Given the description of an element on the screen output the (x, y) to click on. 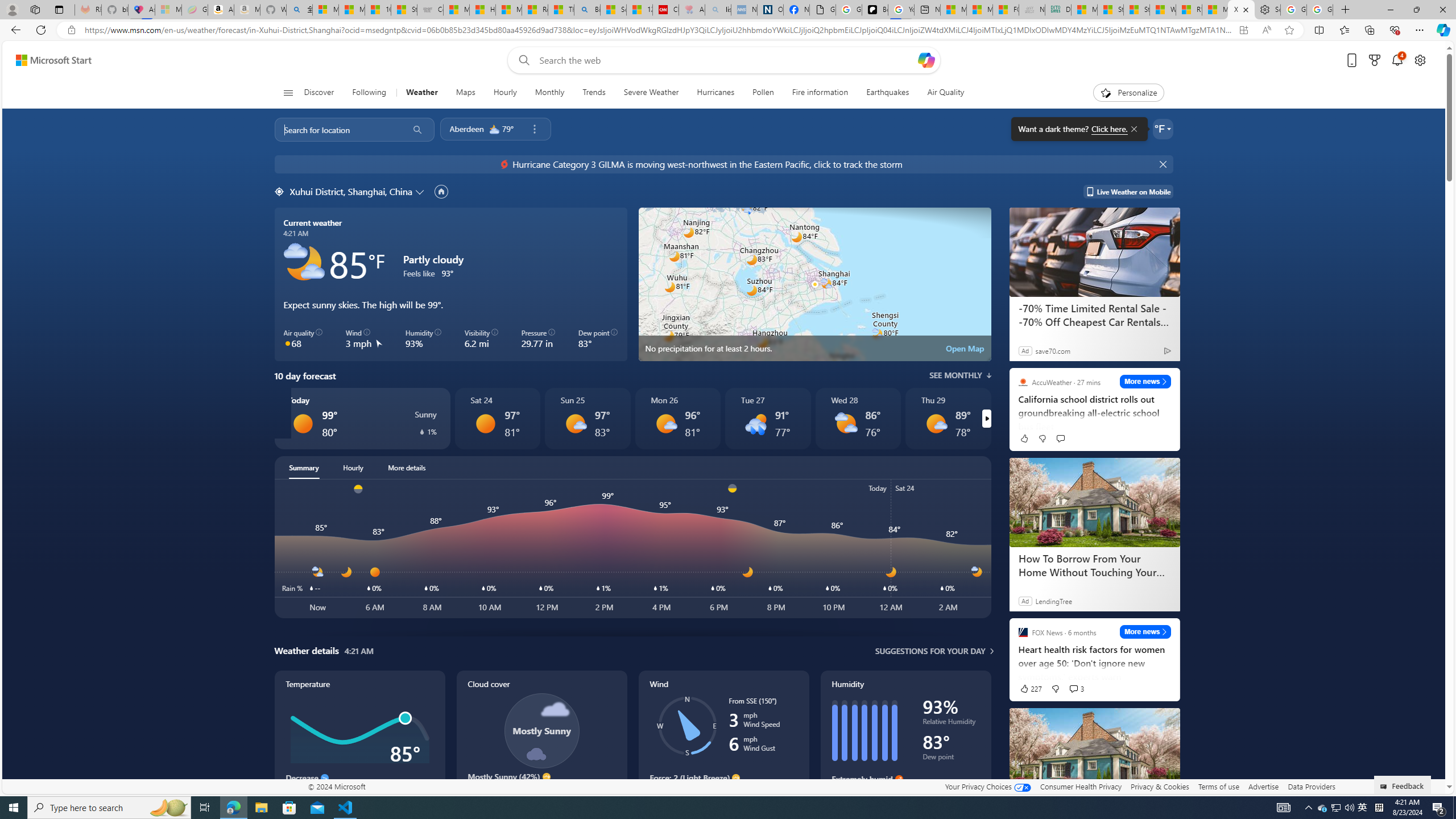
Class: feedback_link_icon-DS-EntryPoint1-1 (1384, 786)
Enter your search term (726, 59)
App available. Install Microsoft Start Weather (1243, 29)
Hourly (504, 92)
Fire information (820, 92)
Data Providers (1311, 785)
Hurricanes (716, 92)
Class: BubbleMessageCloseIcon-DS-EntryPoint1-1 (1133, 128)
Monthly (37, 347)
